Given the description of an element on the screen output the (x, y) to click on. 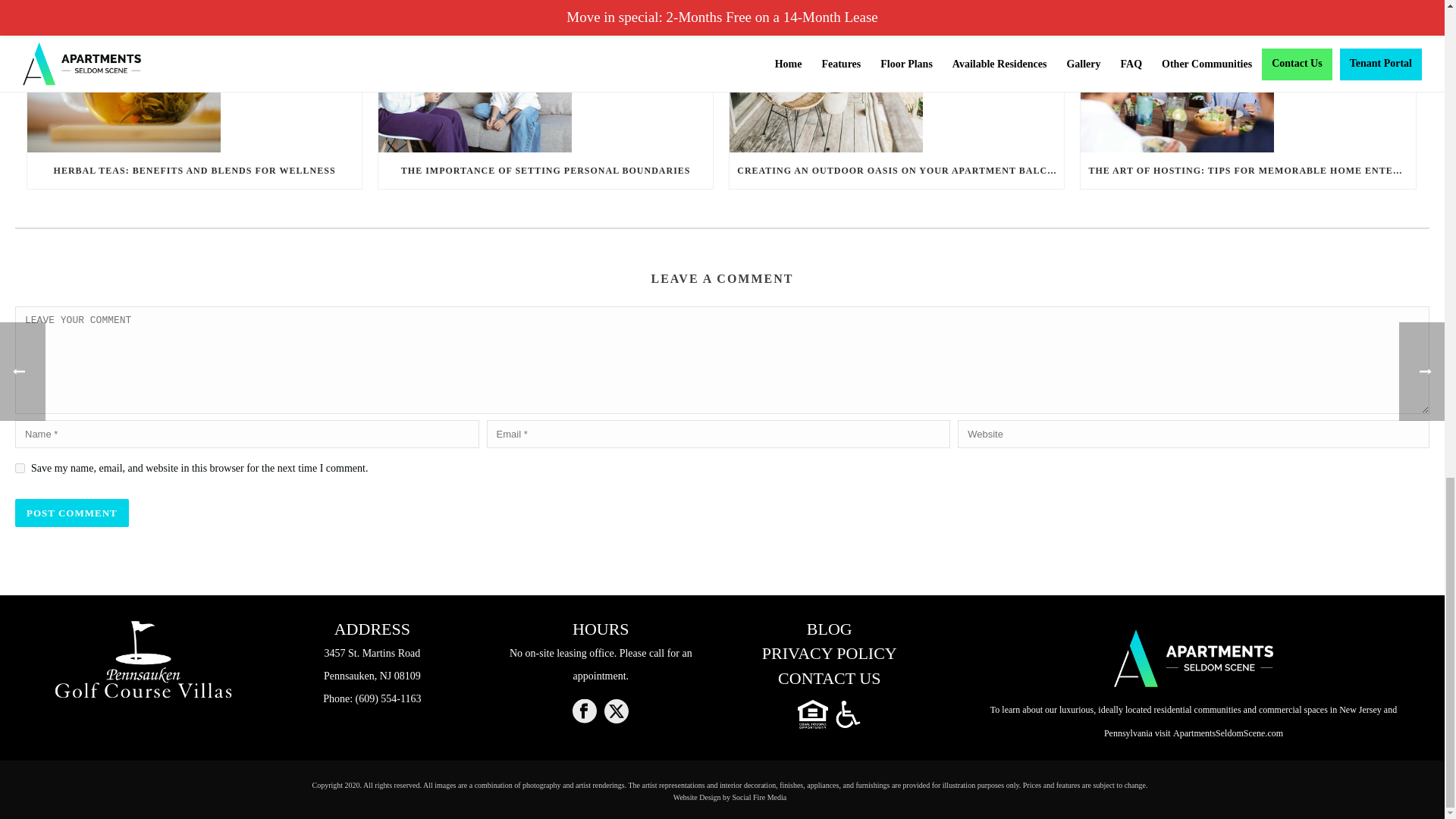
yes (19, 468)
 twitter (616, 712)
CREATING AN OUTDOOR OASIS ON YOUR APARTMENT BALCONY (896, 170)
Pennsauken Golf Course Villas  Logo (143, 659)
Equal Housing Opportunity (814, 714)
Creating an Outdoor Oasis on Your Apartment Balcony (896, 76)
The Importance of Setting Personal Boundaries (545, 76)
HERBAL TEAS: BENEFITS AND BLENDS FOR WELLNESS (194, 170)
Apartments Seldom Scene Logo (1193, 658)
Handicap Accessible (847, 714)
POST COMMENT (71, 512)
The Art of Hosting: Tips for Memorable Home Entertaining (1247, 76)
THE IMPORTANCE OF SETTING PERSONAL BOUNDARIES (545, 170)
 facebook (584, 712)
Herbal Teas: Benefits and Blends for Wellness (194, 76)
